Given the description of an element on the screen output the (x, y) to click on. 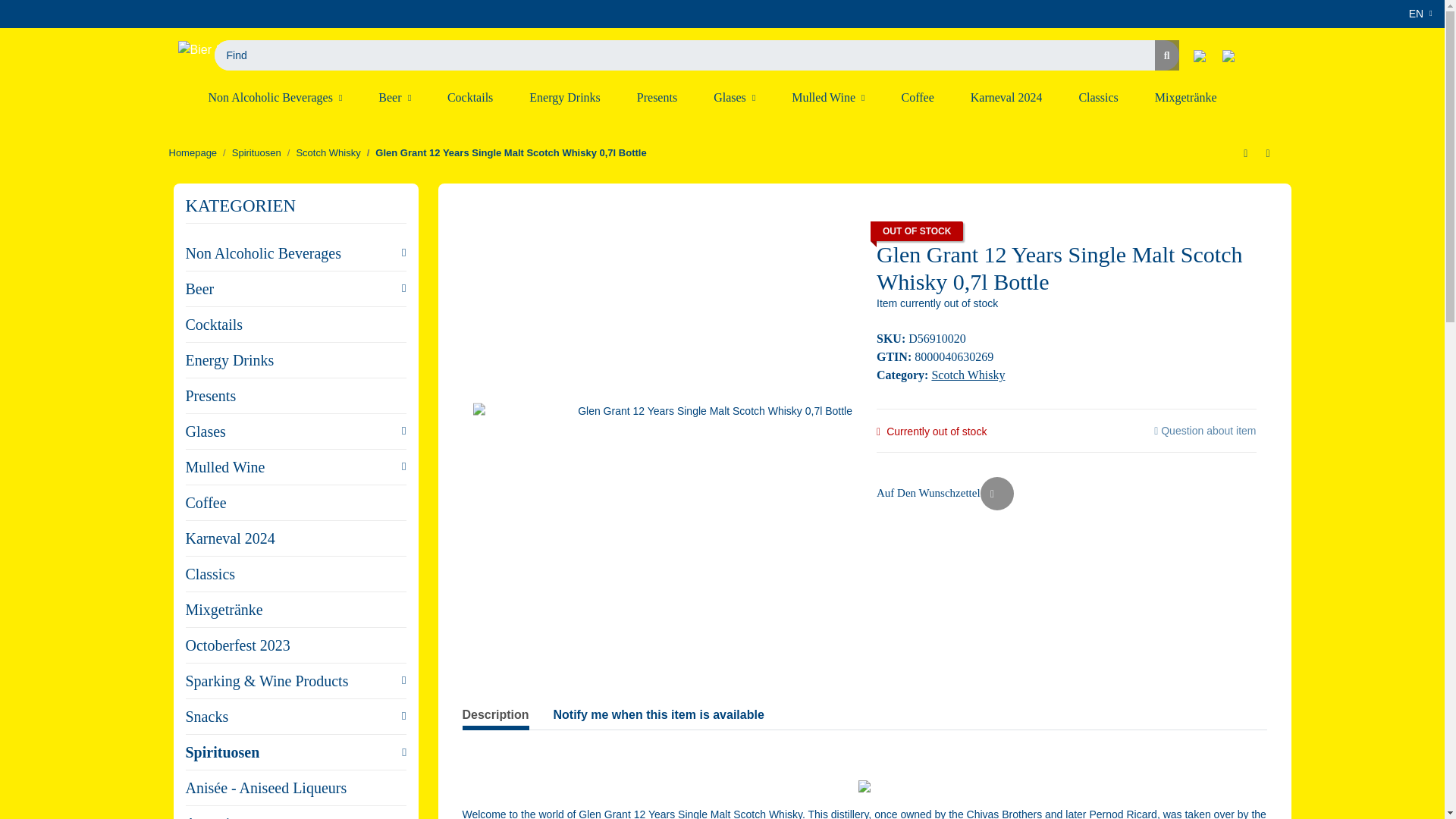
Mulled Wine (827, 97)
Beer (394, 97)
Cocktails (470, 97)
Coffee (917, 97)
Energy Drinks (564, 97)
Octoberfest 2023 (1294, 97)
Non Alcoholic Beverages (274, 97)
Glases (734, 97)
Cocktails (470, 97)
Mulled Wine (827, 97)
Octoberfest 2023 (1294, 97)
Beer (394, 97)
Classics (1097, 97)
Presents (656, 97)
Karneval 2024 (1006, 97)
